Given the description of an element on the screen output the (x, y) to click on. 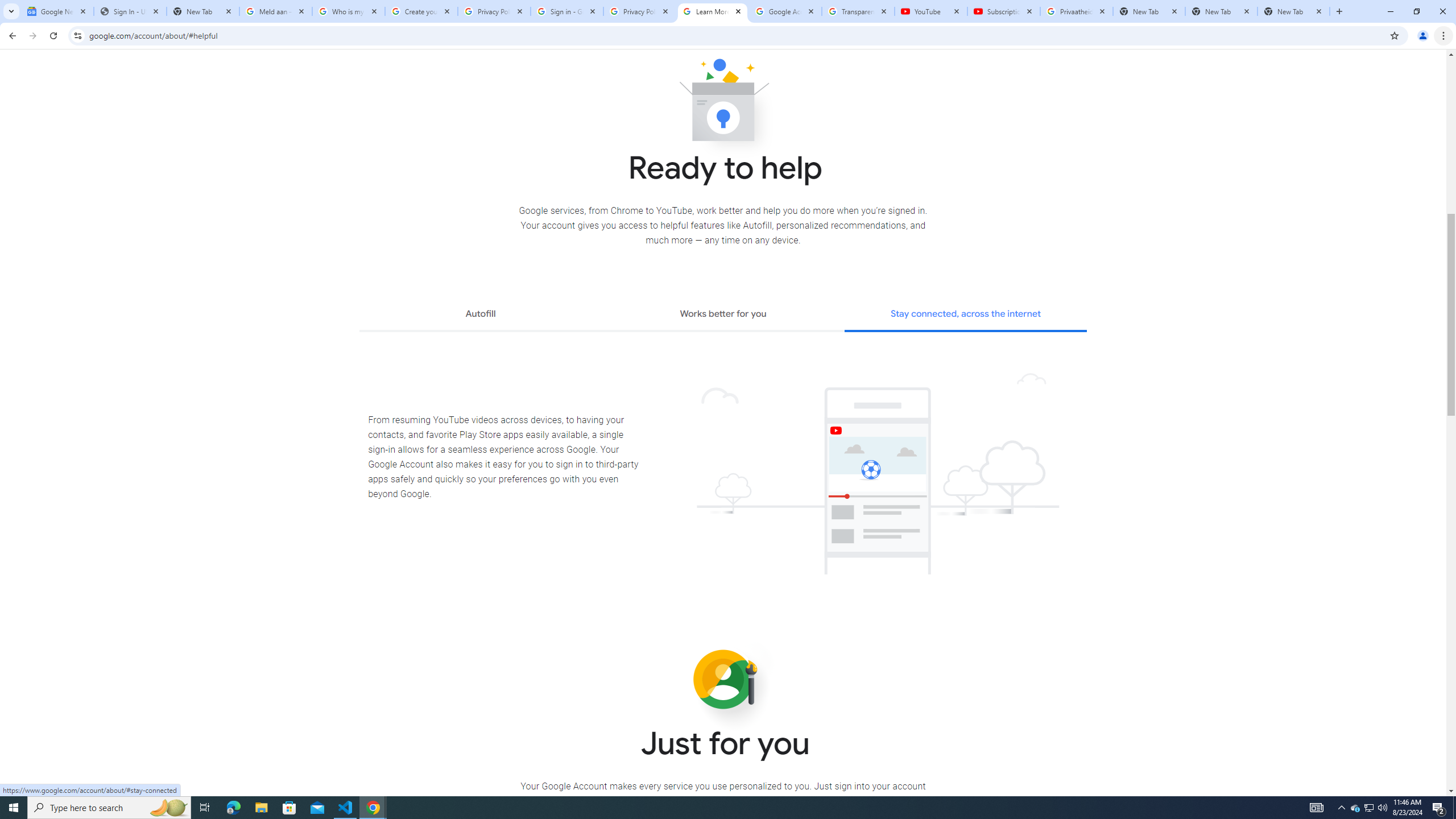
YouTube (930, 11)
Sign In - USA TODAY (129, 11)
Sign in - Google Accounts (566, 11)
Create your Google Account (421, 11)
Google News (57, 11)
Autofill (480, 315)
Ready to help (722, 103)
